Given the description of an element on the screen output the (x, y) to click on. 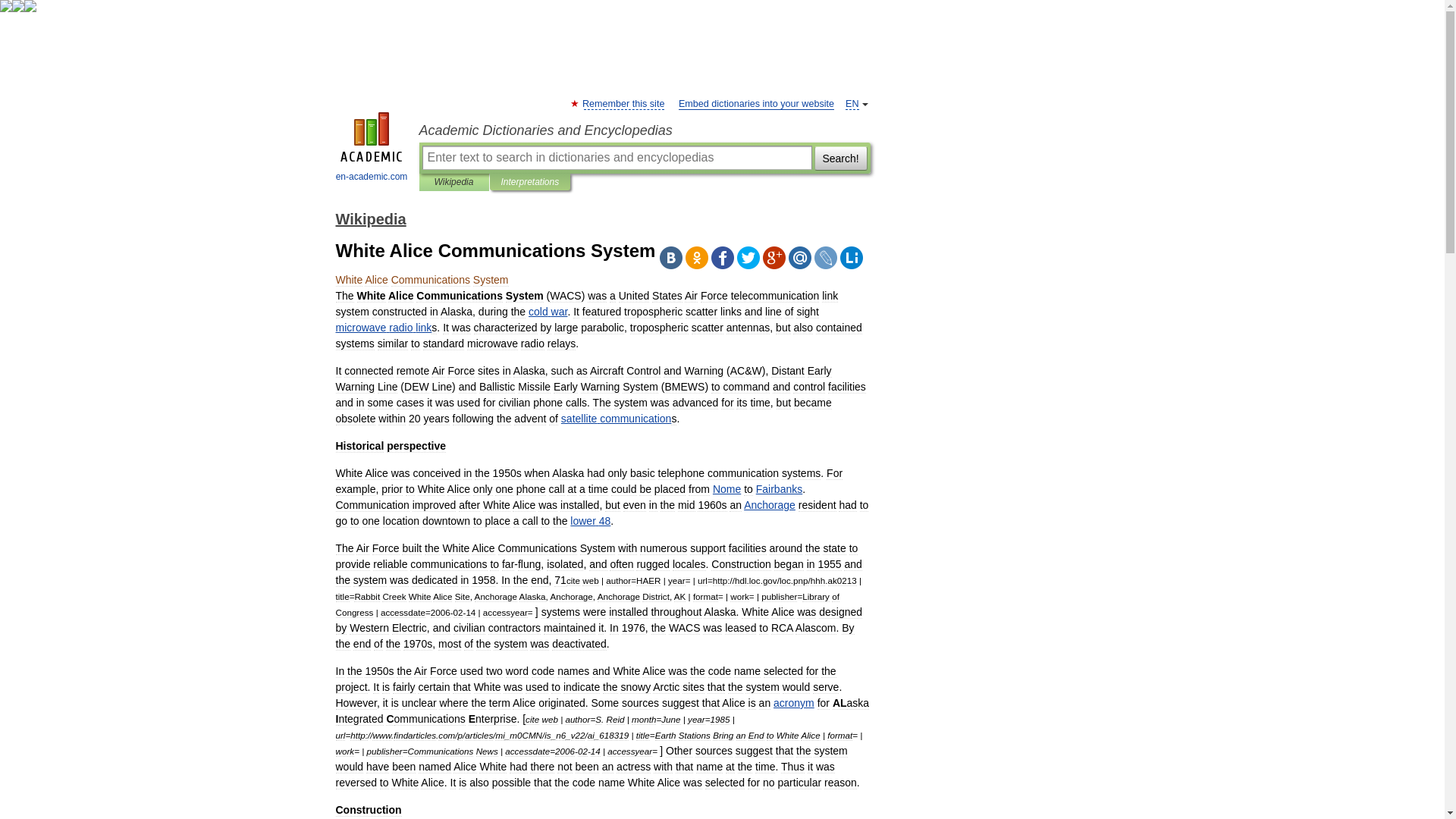
lower 48 (590, 521)
Fairbanks (778, 489)
satellite communication (615, 418)
Embed dictionaries into your website (756, 103)
Wikipedia (370, 218)
Interpretations (529, 181)
acronym (793, 702)
cold war (547, 311)
Search! (840, 157)
Nome (727, 489)
